Given the description of an element on the screen output the (x, y) to click on. 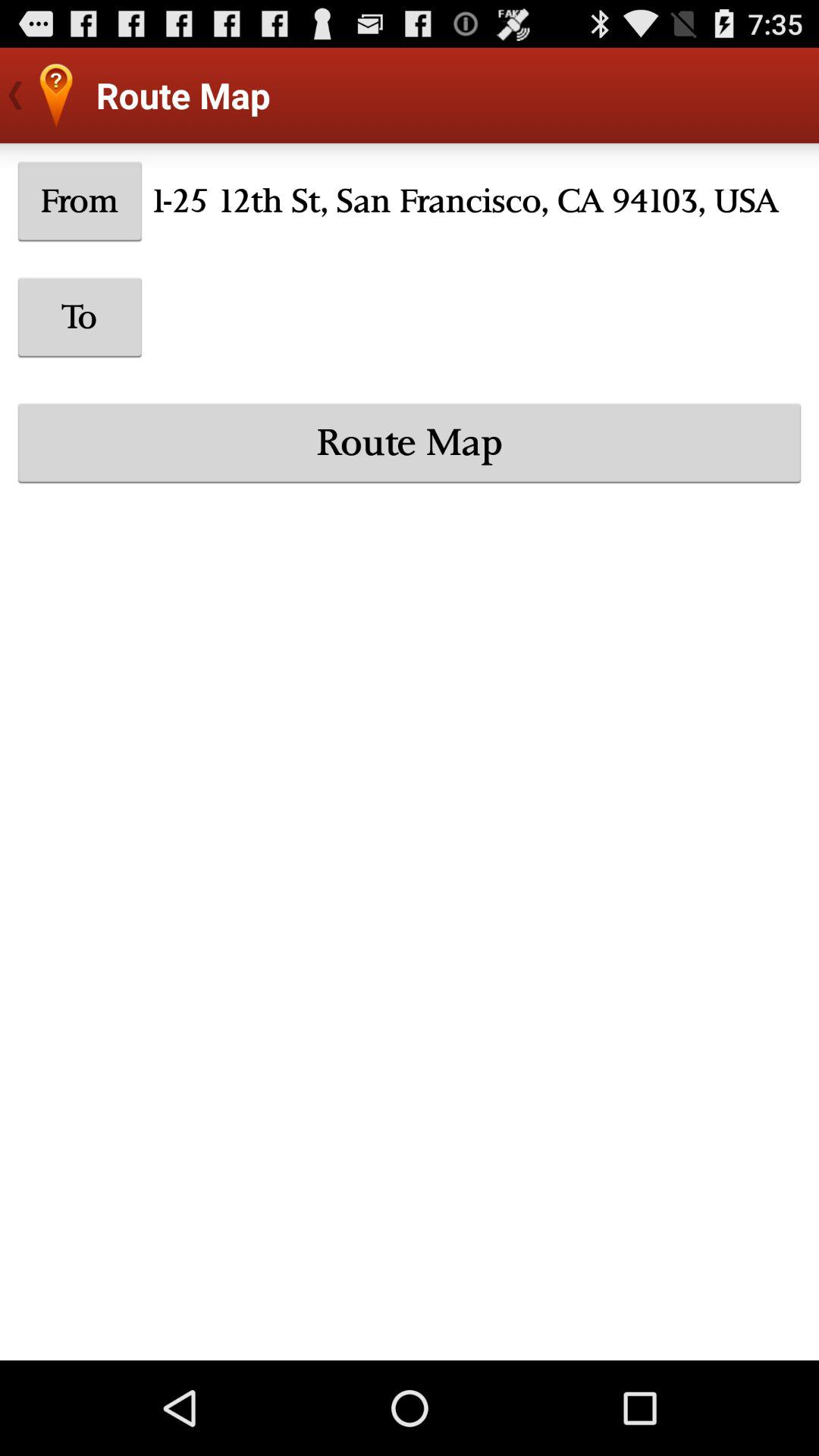
launch to icon (79, 317)
